Given the description of an element on the screen output the (x, y) to click on. 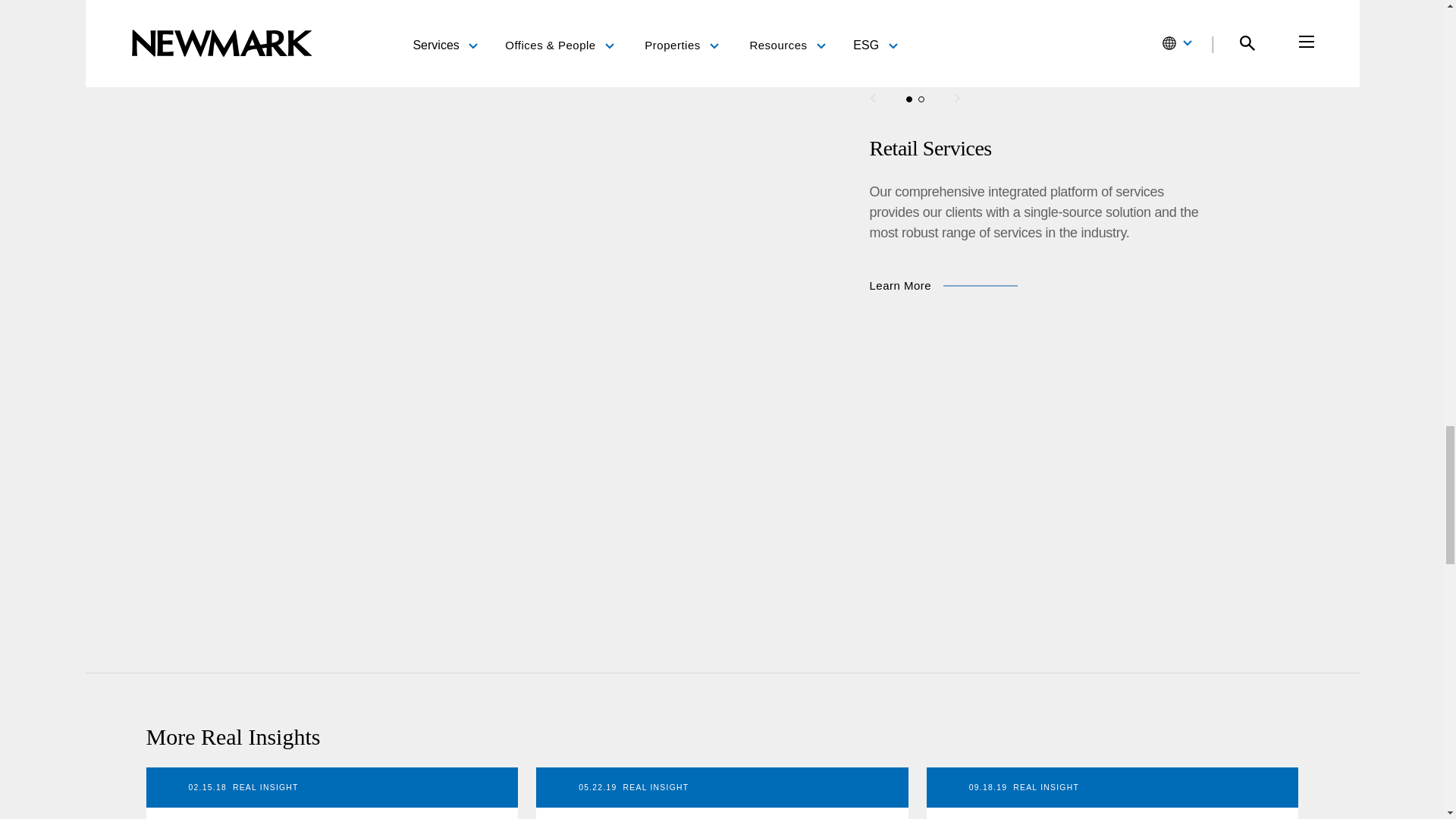
Learn More about (900, 285)
